Given the description of an element on the screen output the (x, y) to click on. 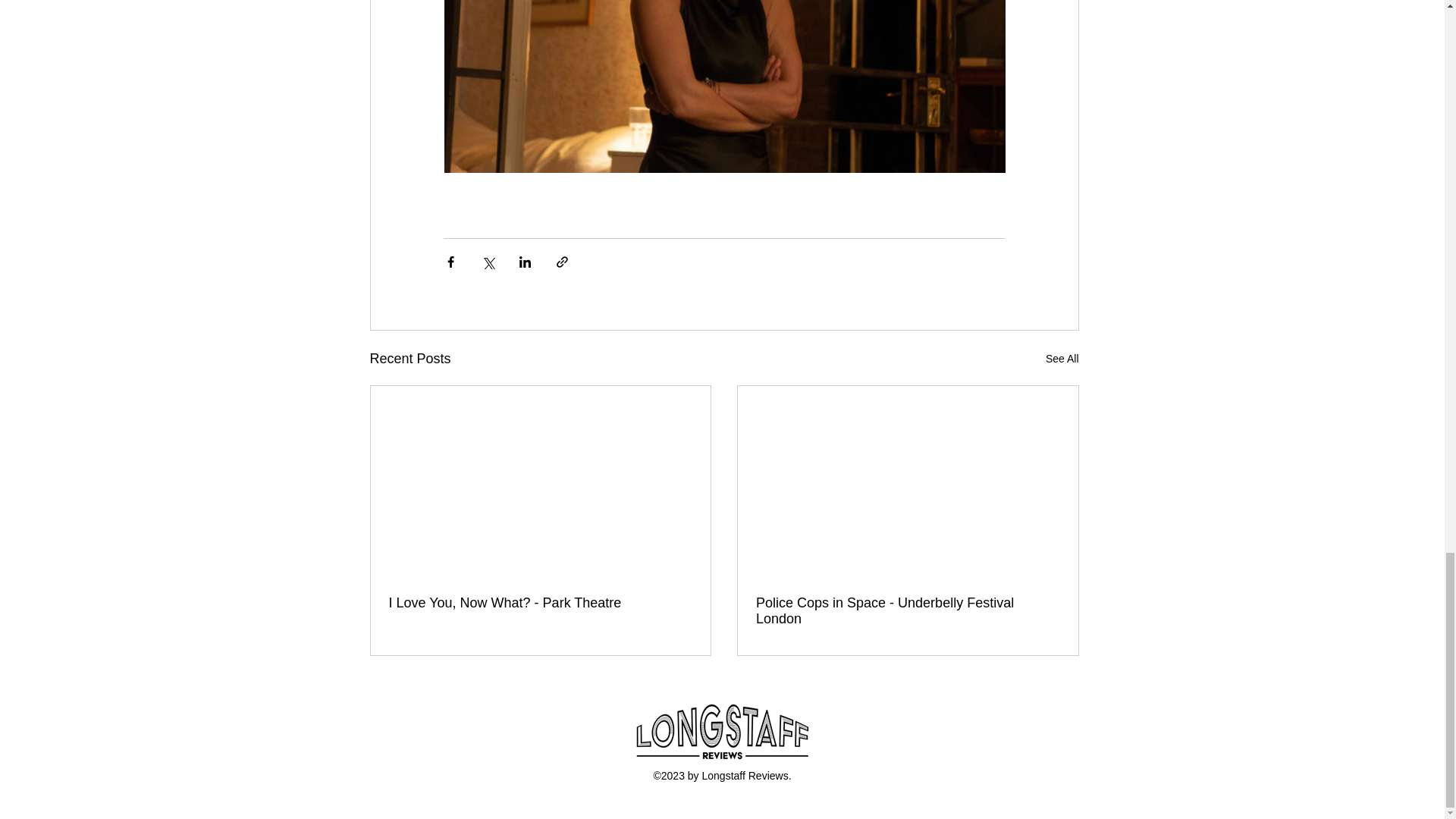
See All (1061, 359)
Twitter Follow (722, 798)
I Love You, Now What? - Park Theatre (540, 602)
Police Cops in Space - Underbelly Festival London (907, 611)
